Given the description of an element on the screen output the (x, y) to click on. 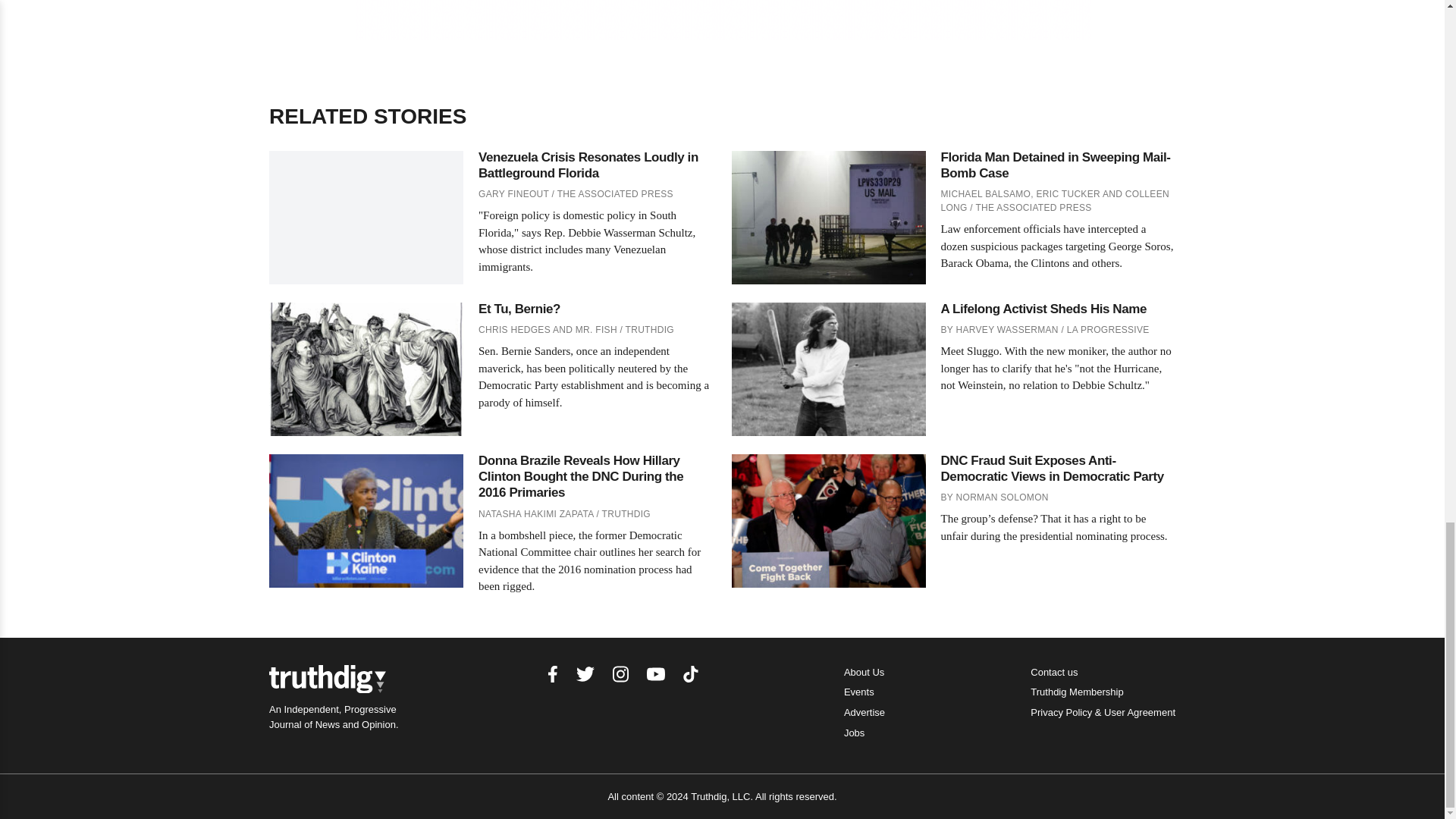
3rd party ad content (722, 20)
